Given the description of an element on the screen output the (x, y) to click on. 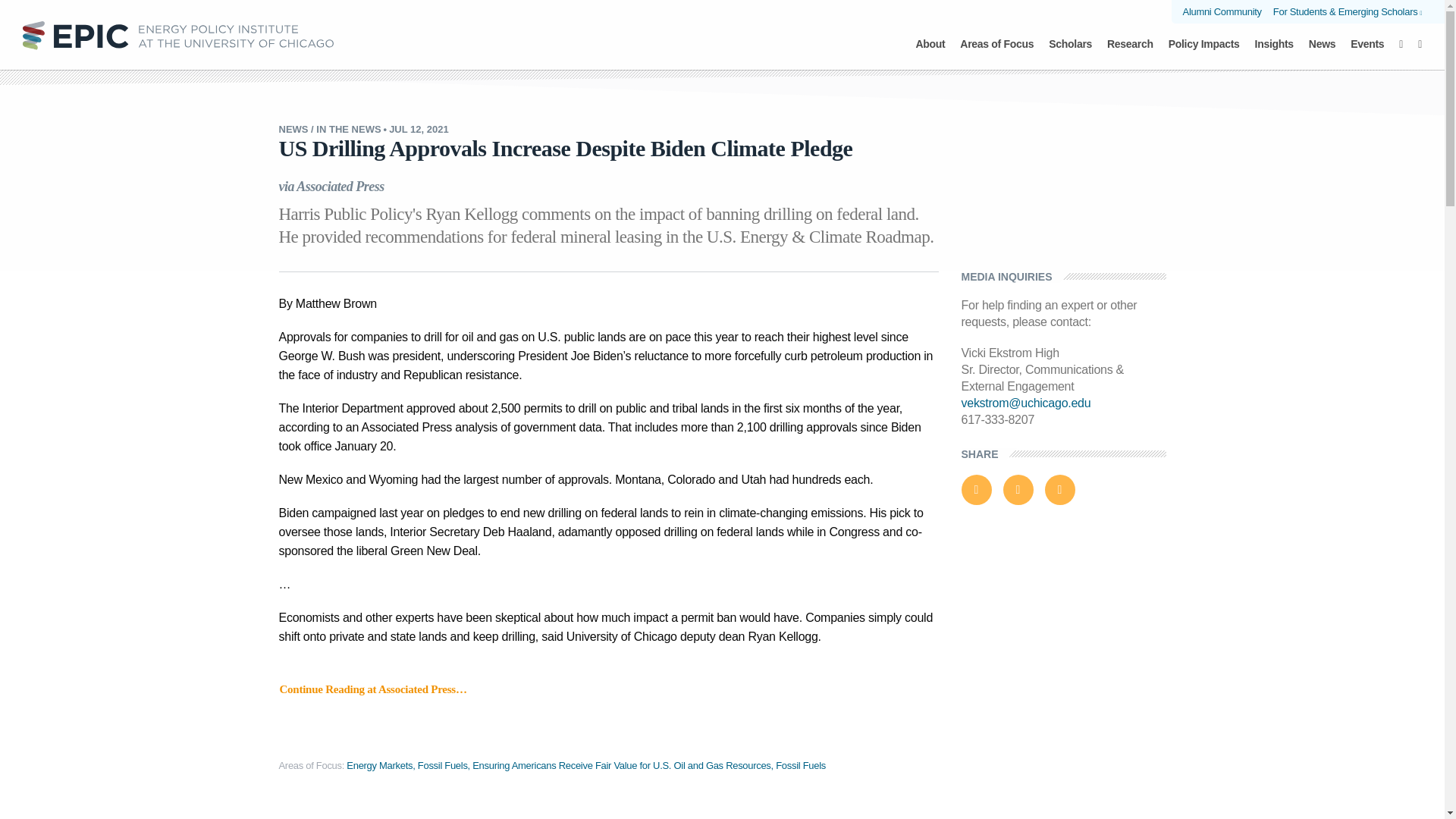
Our Team (518, 38)
Abrams Environmental Law Clinic (721, 26)
EPIC (178, 33)
Advisory Group (614, 38)
Research (1129, 52)
Areas of Focus (996, 52)
Scholars (1070, 52)
Contact (938, 38)
Visiting Fellows (722, 38)
